Given the description of an element on the screen output the (x, y) to click on. 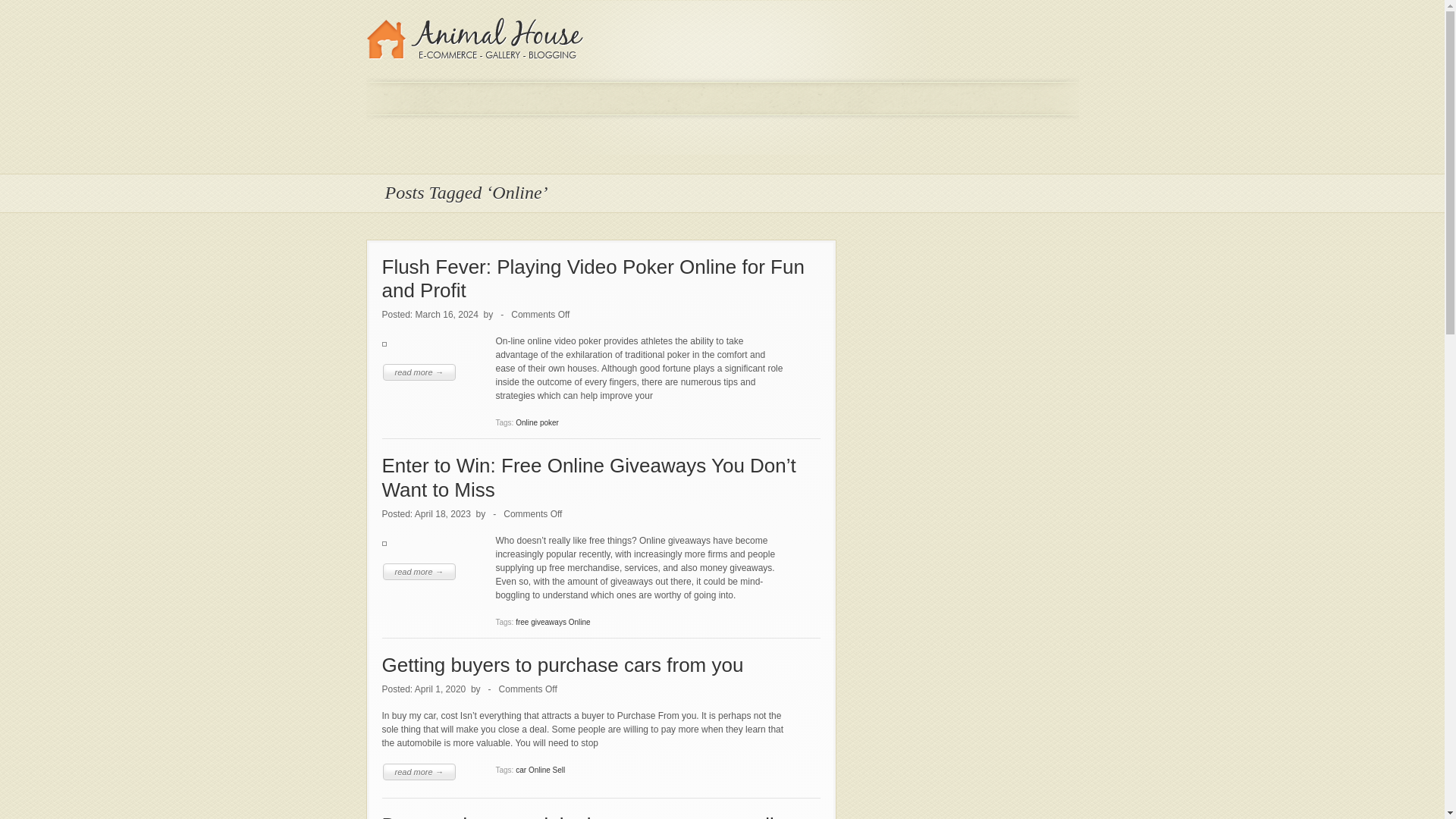
Flush Fever: Playing Video Poker Online for Fun and Profit (593, 278)
free (521, 622)
Getting buyers to purchase cars from you (562, 664)
Online (539, 769)
giveaways (548, 622)
poker (549, 422)
Sell (559, 769)
Online (526, 422)
car (520, 769)
Permanent Link to Getting buyers to purchase cars from you (562, 664)
Online (580, 622)
